Given the description of an element on the screen output the (x, y) to click on. 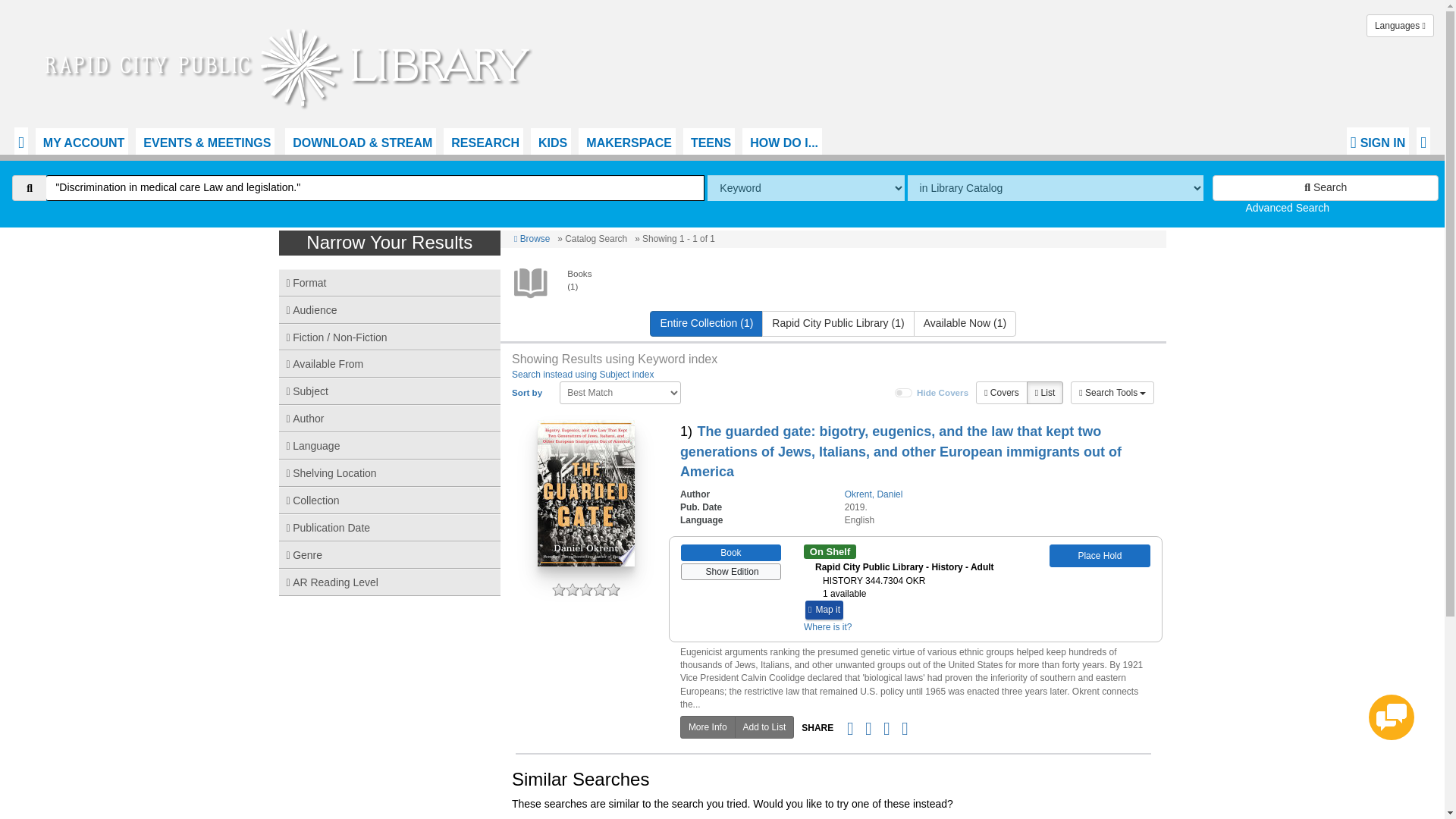
 Search (1325, 187)
Login (1377, 140)
MY ACCOUNT (81, 140)
"Discrimination in medical care Law and legislation." (375, 187)
SIGN IN (1377, 140)
The method of searching. (805, 187)
MAKERSPACE (626, 140)
RESEARCH (483, 140)
on (903, 392)
Languages  (1400, 25)
KIDS (550, 140)
Advanced Search (1286, 207)
Library Home Page (290, 63)
TEENS (708, 140)
